Given the description of an element on the screen output the (x, y) to click on. 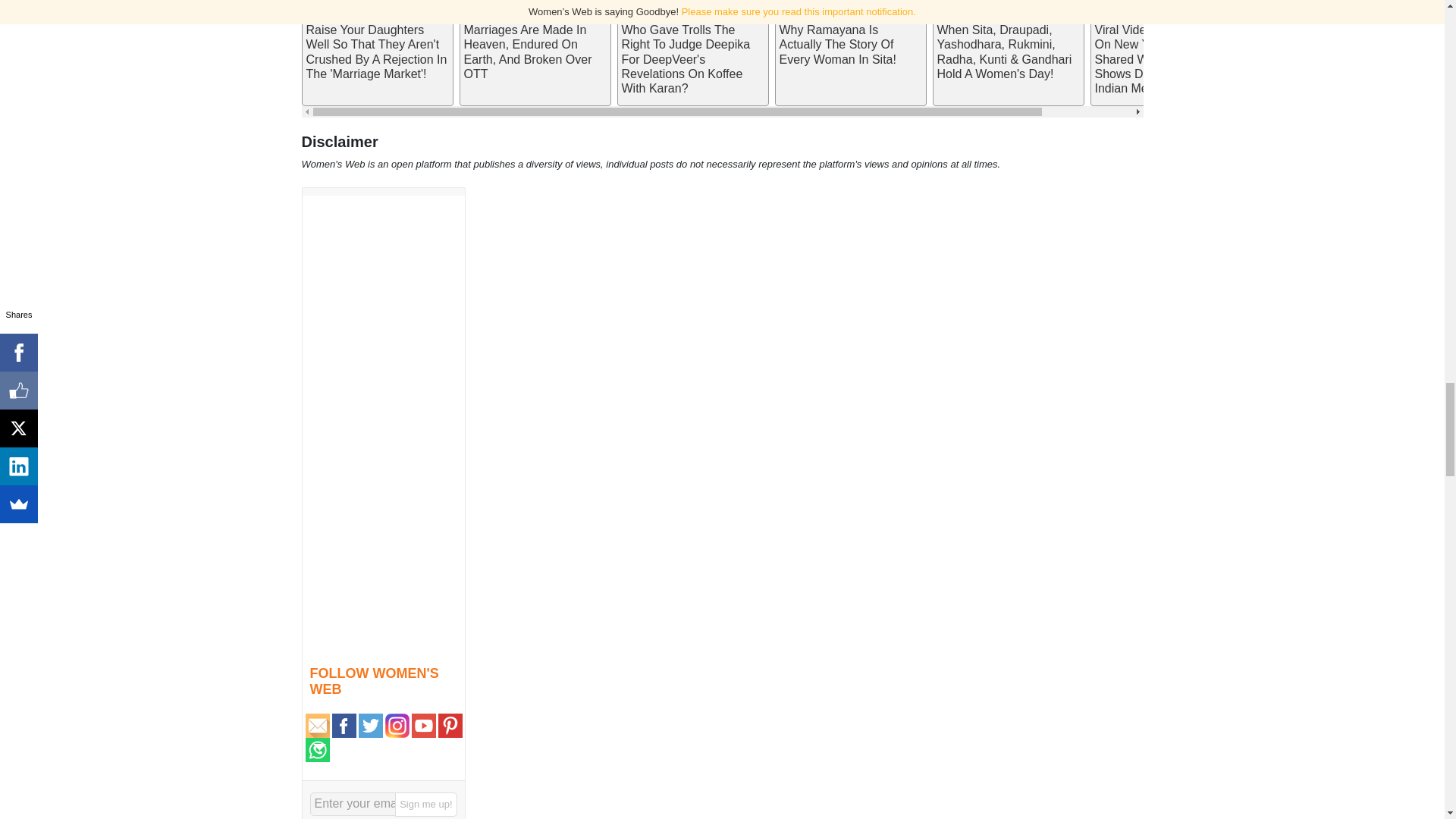
Sign me up! (425, 804)
